Given the description of an element on the screen output the (x, y) to click on. 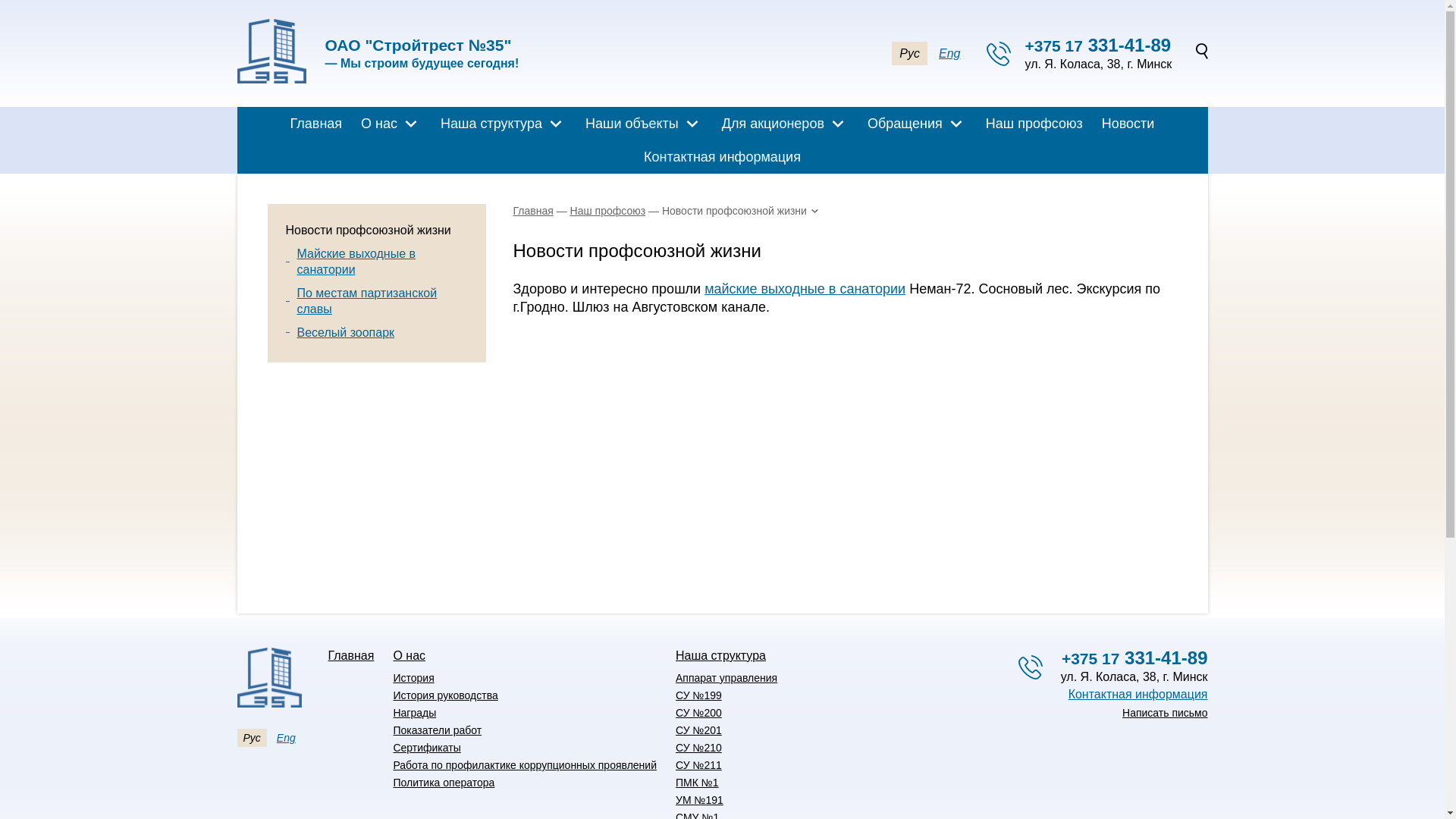
Eng Element type: text (949, 53)
Eng Element type: text (285, 737)
